Given the description of an element on the screen output the (x, y) to click on. 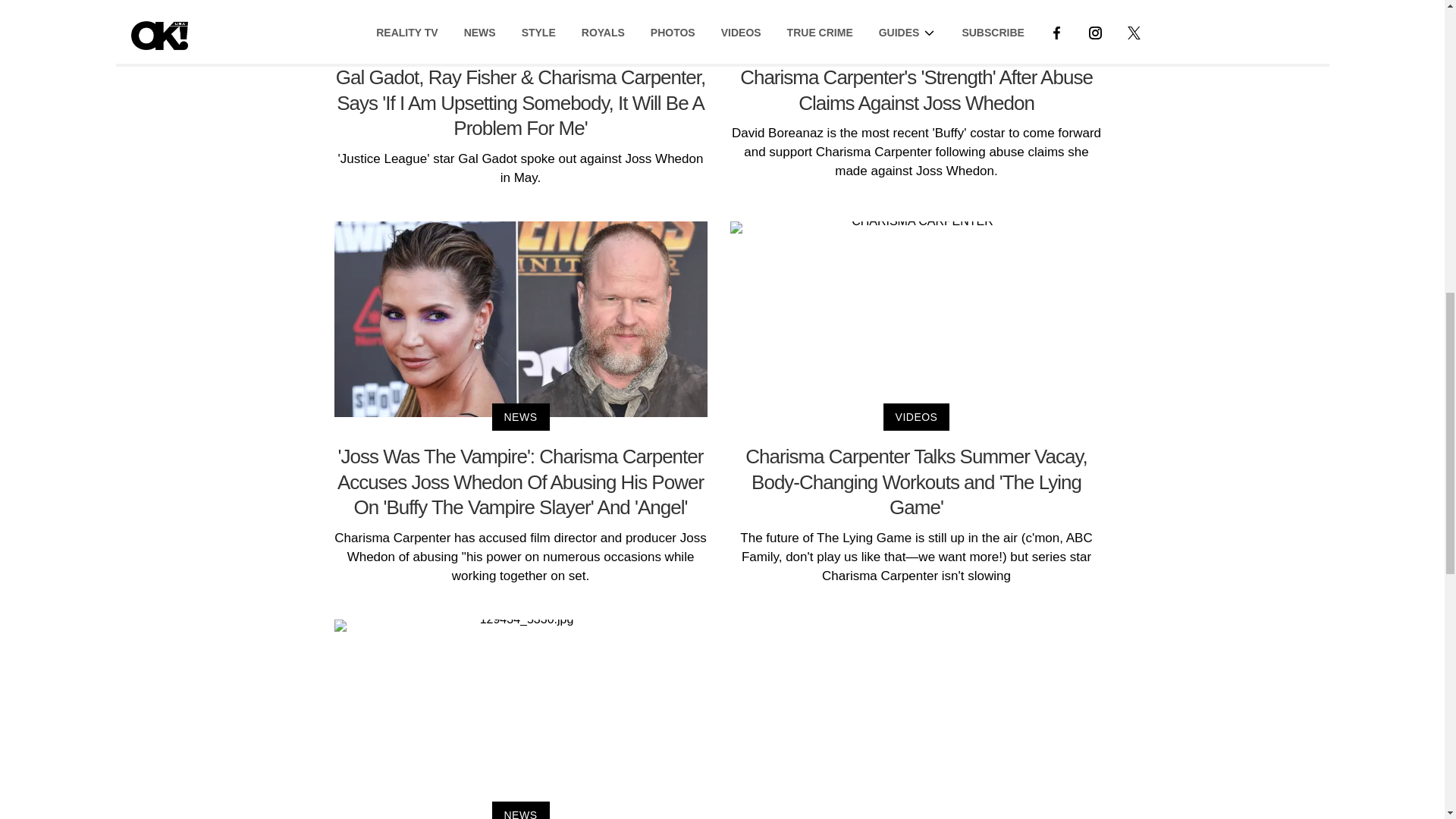
Charisma Carpenter Talks 'The Lying Game' Shockers and More (519, 719)
